Given the description of an element on the screen output the (x, y) to click on. 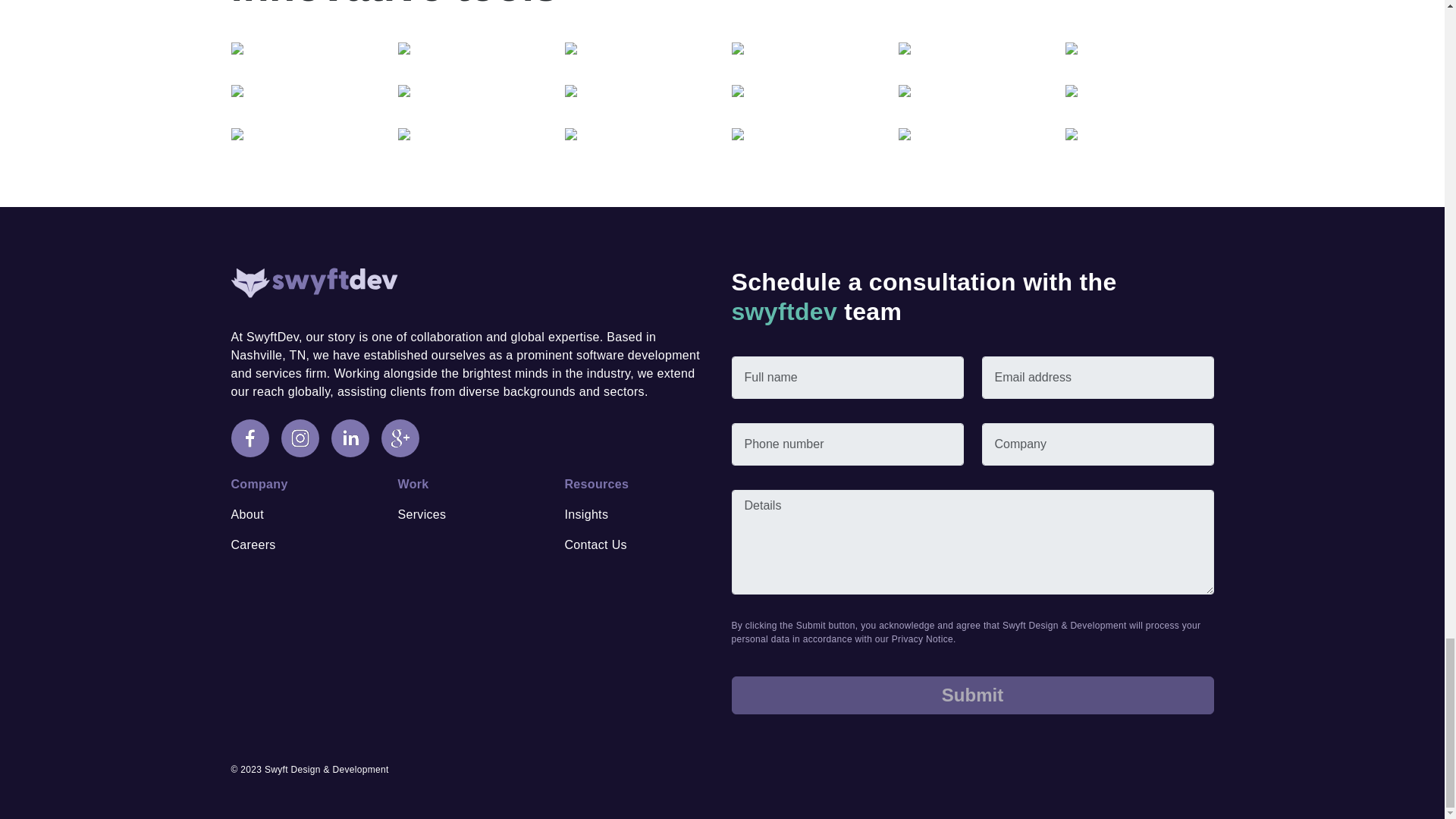
About (246, 513)
Careers (252, 544)
Insights (586, 513)
Submit (971, 695)
Contact Us (595, 544)
Services (421, 513)
